Given the description of an element on the screen output the (x, y) to click on. 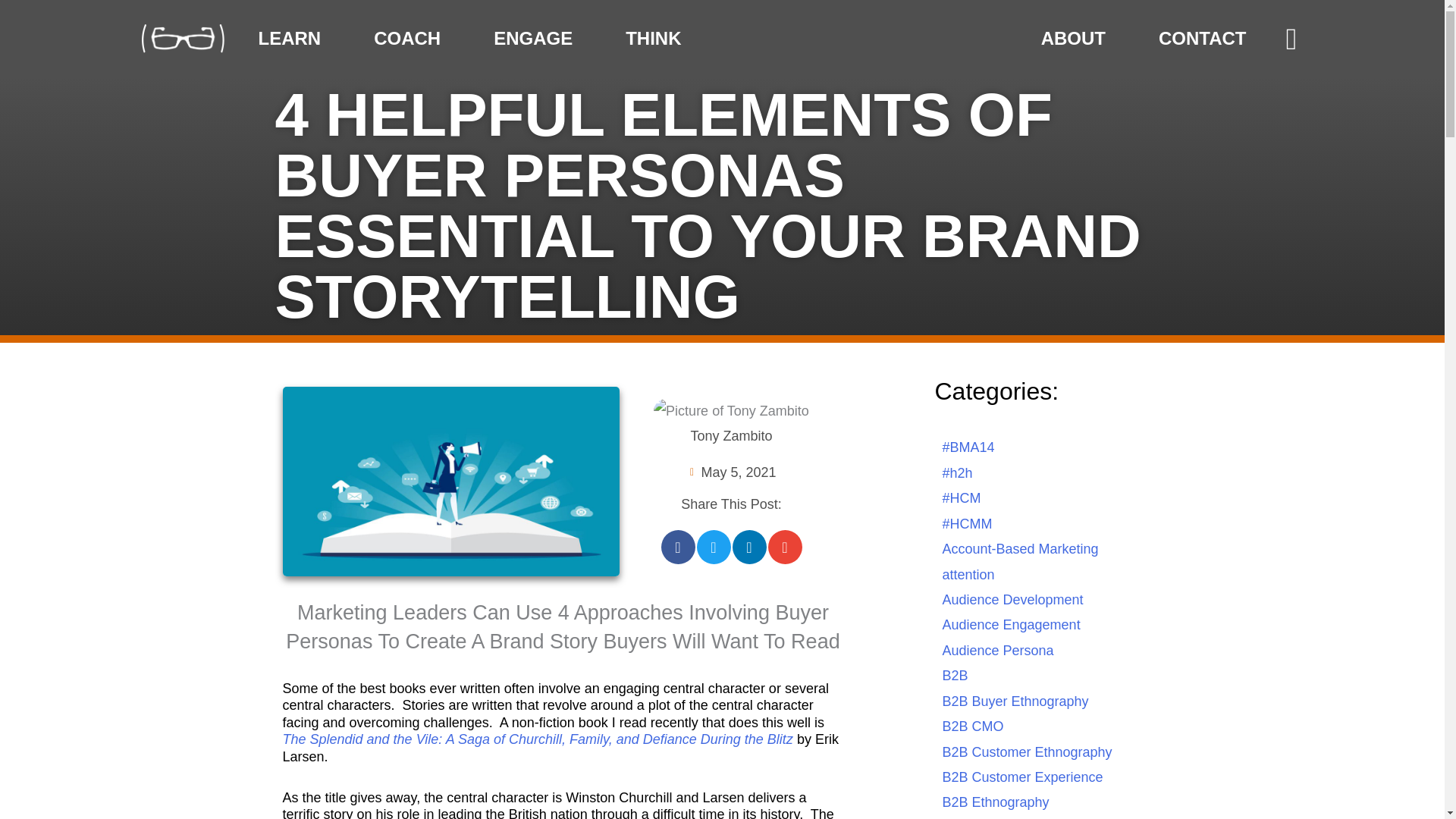
COACH (410, 38)
ENGAGE (537, 38)
LEARN (293, 38)
THINK (656, 38)
ABOUT (1077, 38)
CONTACT (1202, 38)
